Given the description of an element on the screen output the (x, y) to click on. 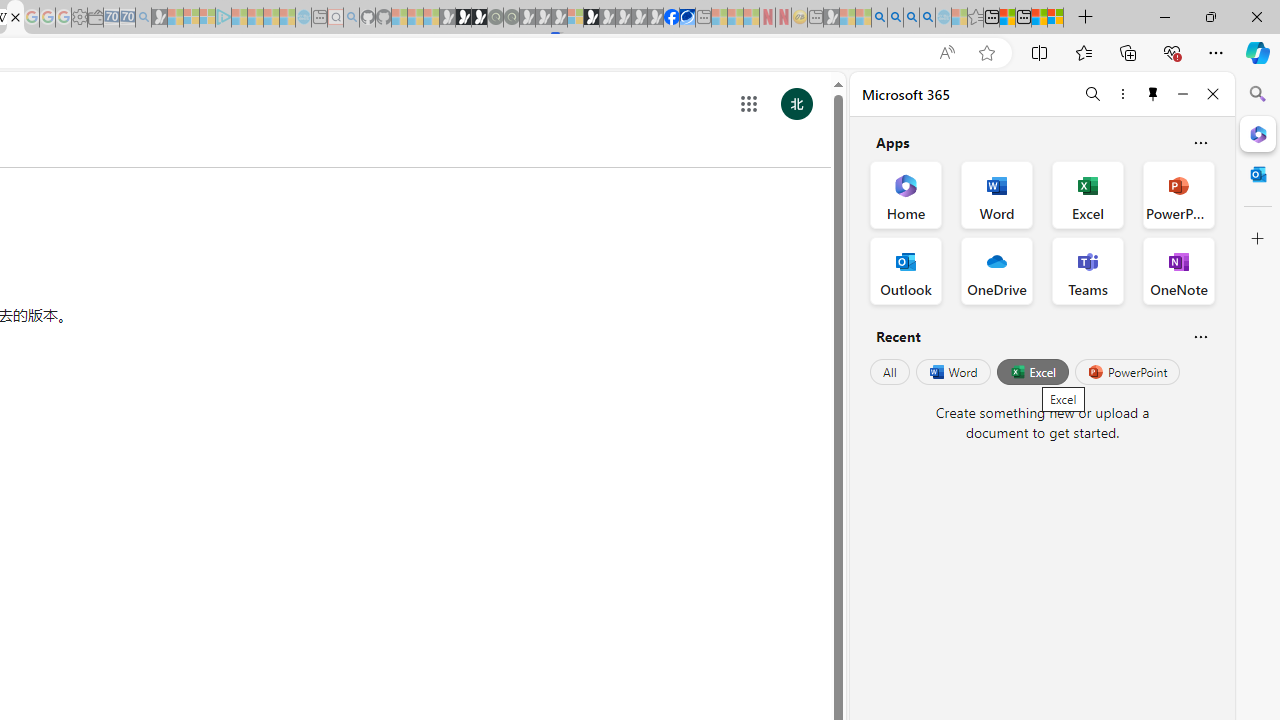
Nordace | Facebook (671, 17)
Microsoft Start - Sleeping (271, 17)
Close Customize pane (1258, 239)
Word Office App (996, 194)
All (890, 372)
Microsoft account | Privacy (1055, 17)
Sign in to your account - Sleeping (575, 17)
Outlook Office App (906, 270)
Bing AI - Search (879, 17)
